Given the description of an element on the screen output the (x, y) to click on. 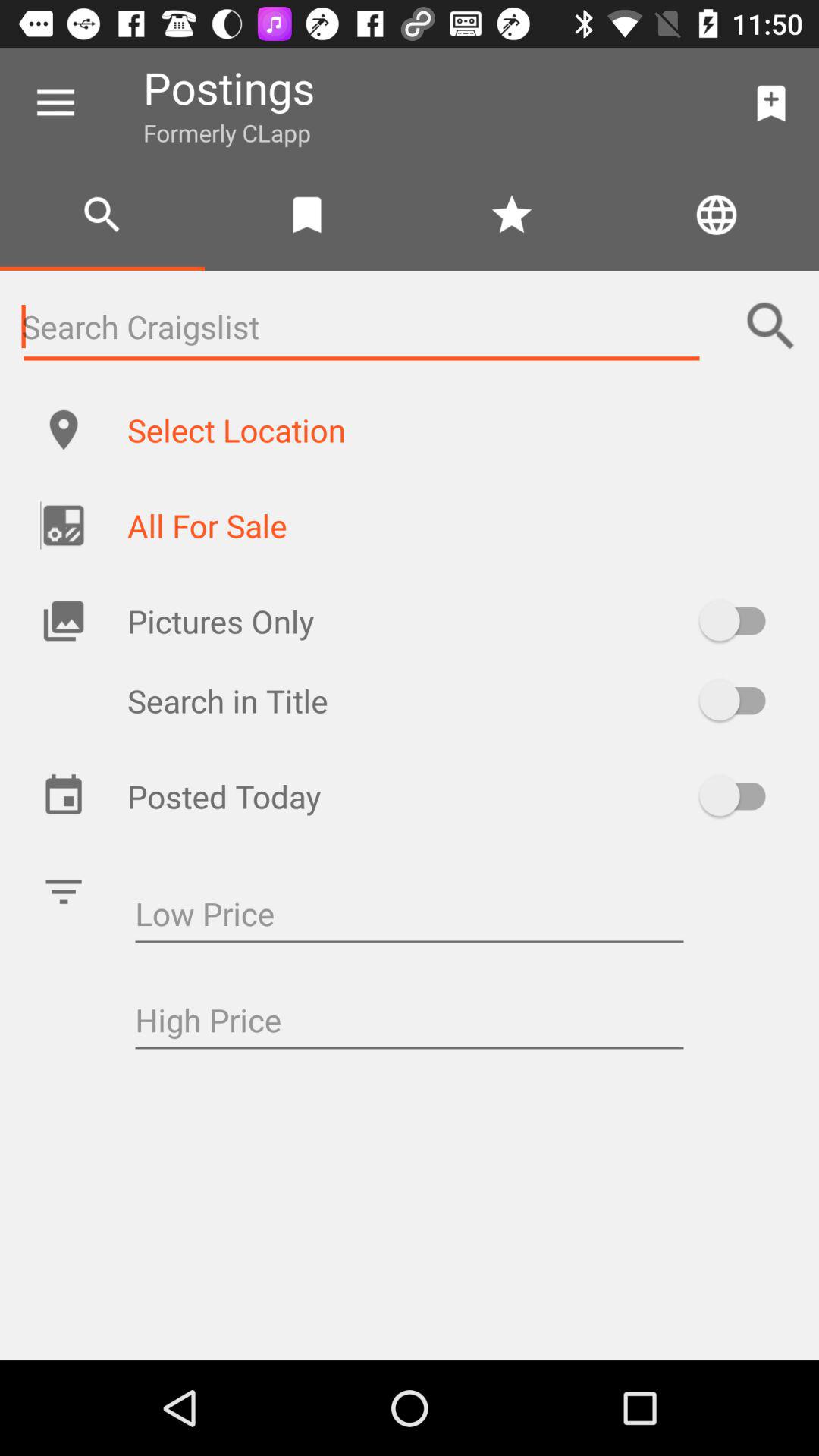
posted today toggle (739, 795)
